Given the description of an element on the screen output the (x, y) to click on. 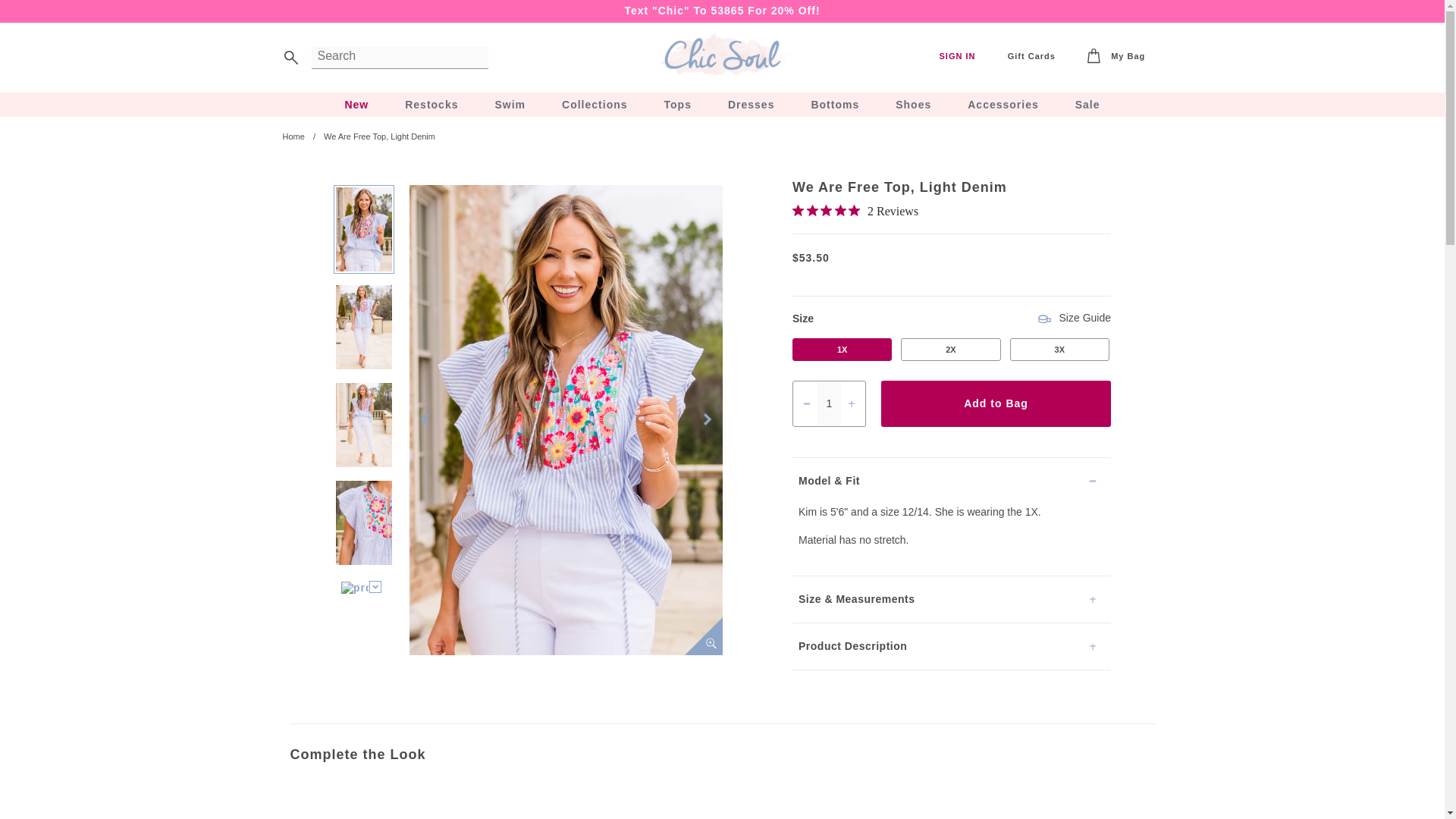
Restocks (431, 104)
Collections (594, 104)
Swim (510, 104)
SIGN IN (957, 55)
Go to Shopping Cart (1115, 57)
1 (828, 403)
2 Reviews (855, 211)
Gift Cards (1031, 55)
New (355, 104)
